Given the description of an element on the screen output the (x, y) to click on. 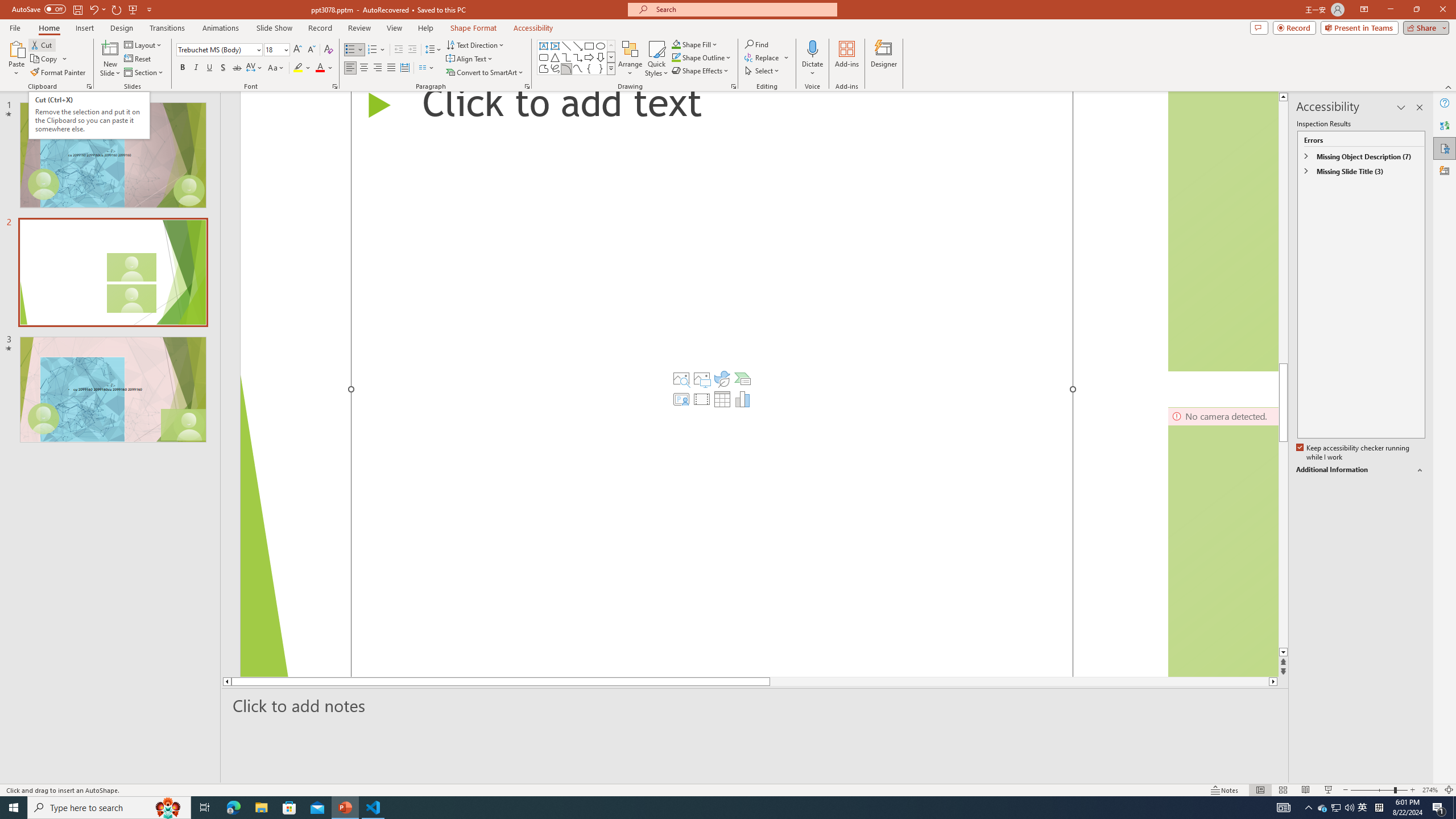
Slide Notes (755, 705)
